Given the description of an element on the screen output the (x, y) to click on. 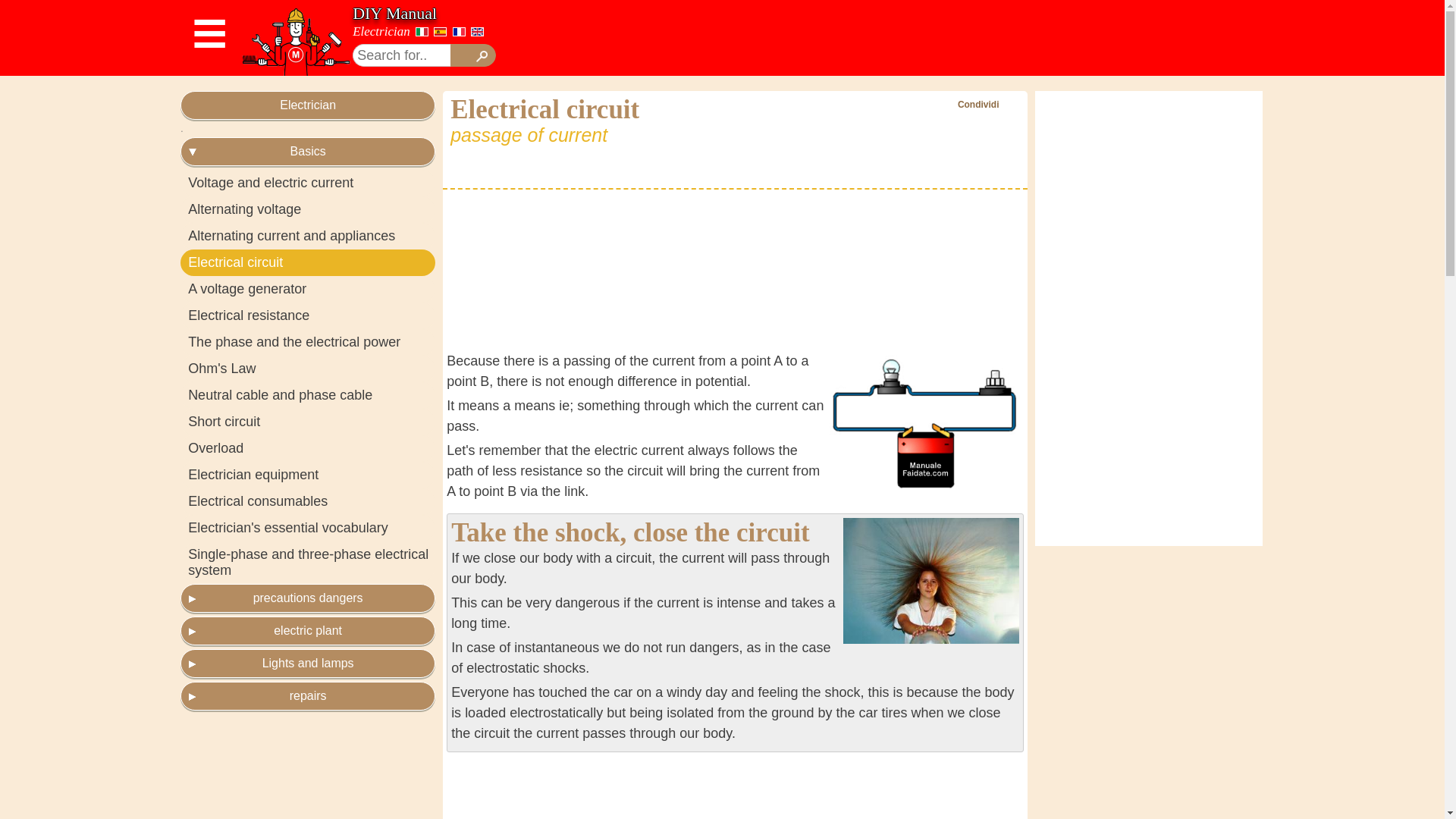
DIY Manual (394, 13)
Basics (307, 151)
Electrician (381, 31)
Electrician (307, 104)
